Given the description of an element on the screen output the (x, y) to click on. 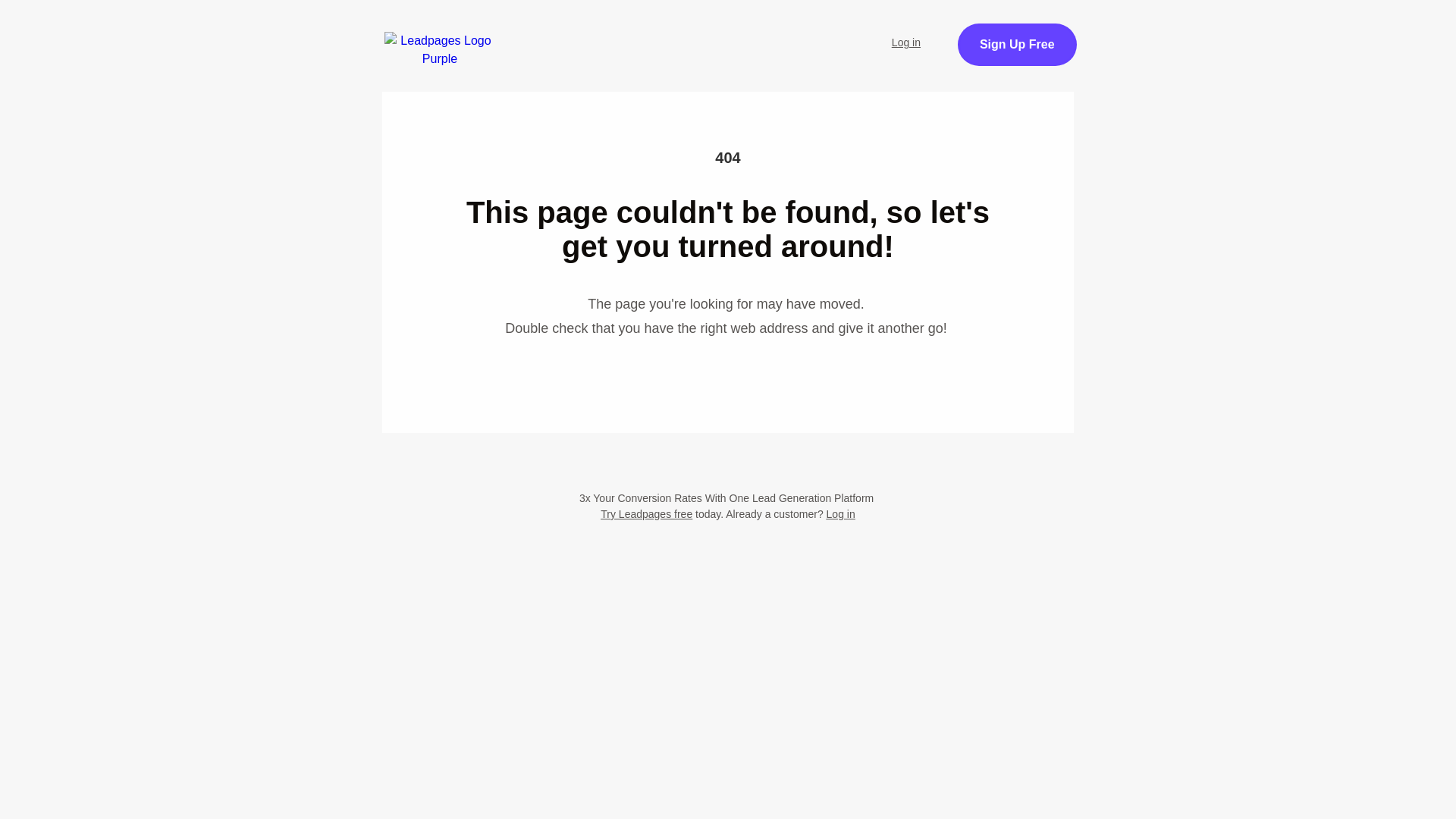
Give To The Ministry (529, 74)
Get Free Book From The Ministry (727, 150)
Start Spiritual Gifts Test (627, 33)
Get Free Prophecy (1070, 53)
HOME (501, 33)
Our Verse of the Day (791, 33)
